Given the description of an element on the screen output the (x, y) to click on. 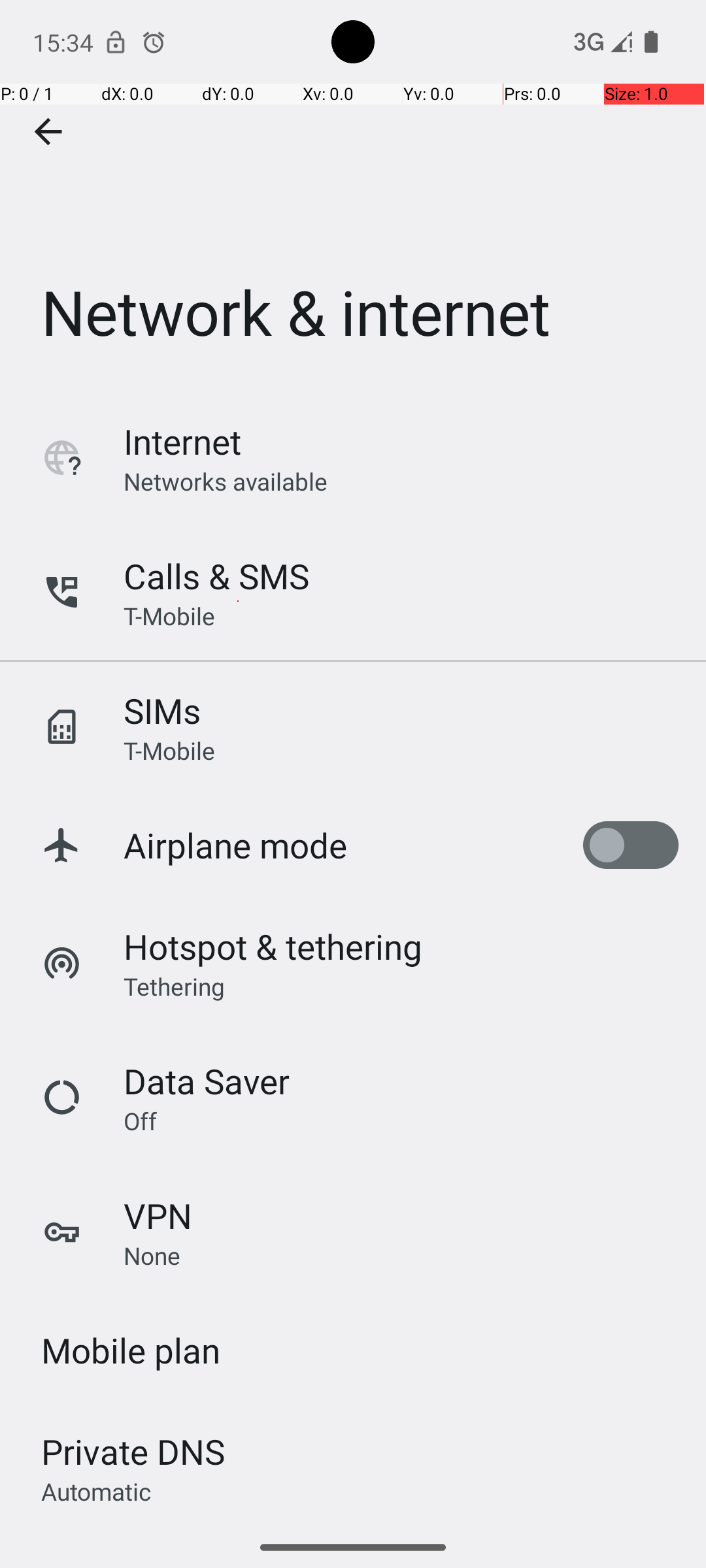
Tethering Element type: android.widget.TextView (174, 985)
